Given the description of an element on the screen output the (x, y) to click on. 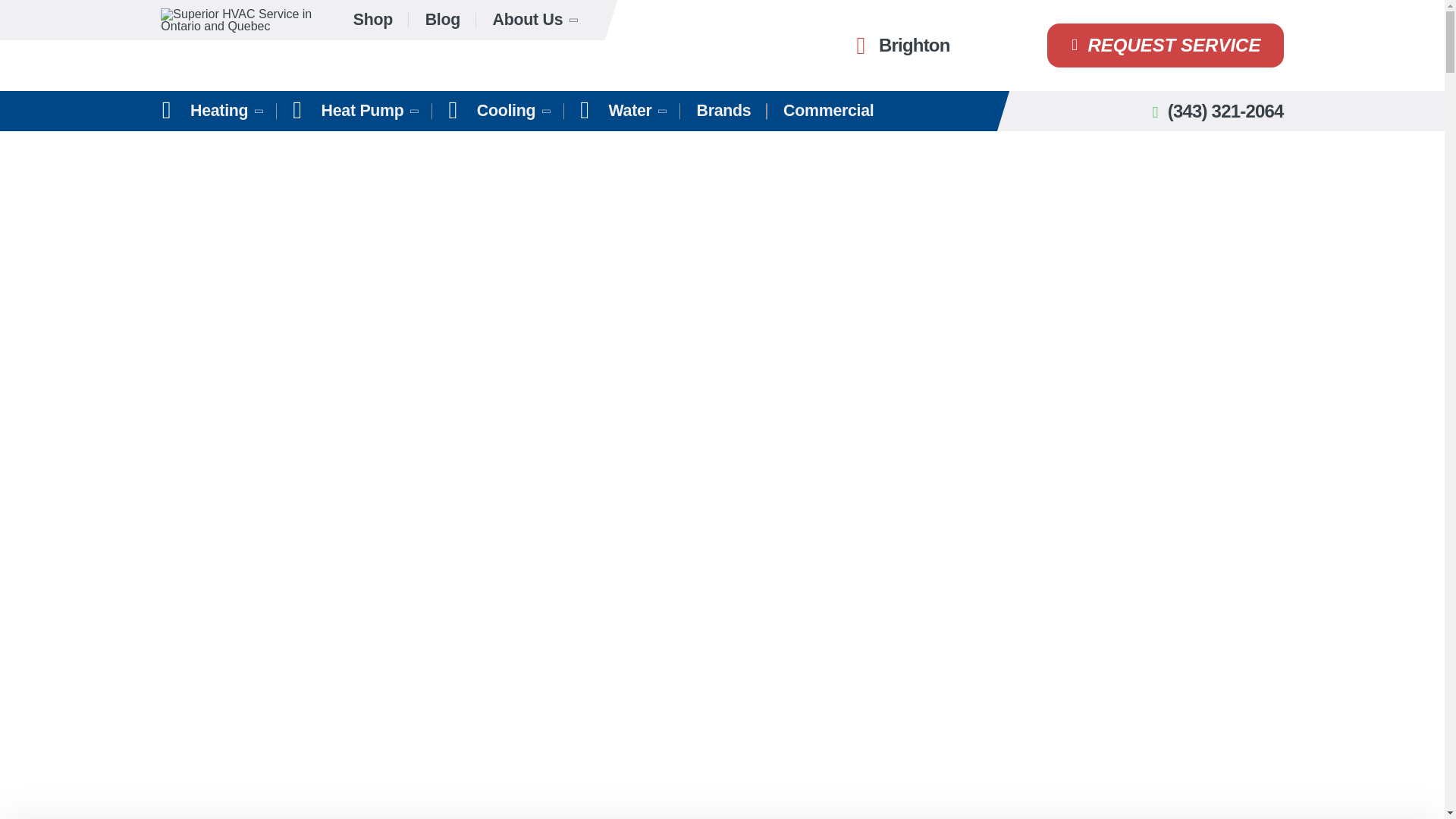
Brands (724, 111)
Blog (442, 19)
Shop (373, 19)
REQUEST SERVICE (1165, 45)
Brighton (899, 45)
Commercial (828, 111)
